Given the description of an element on the screen output the (x, y) to click on. 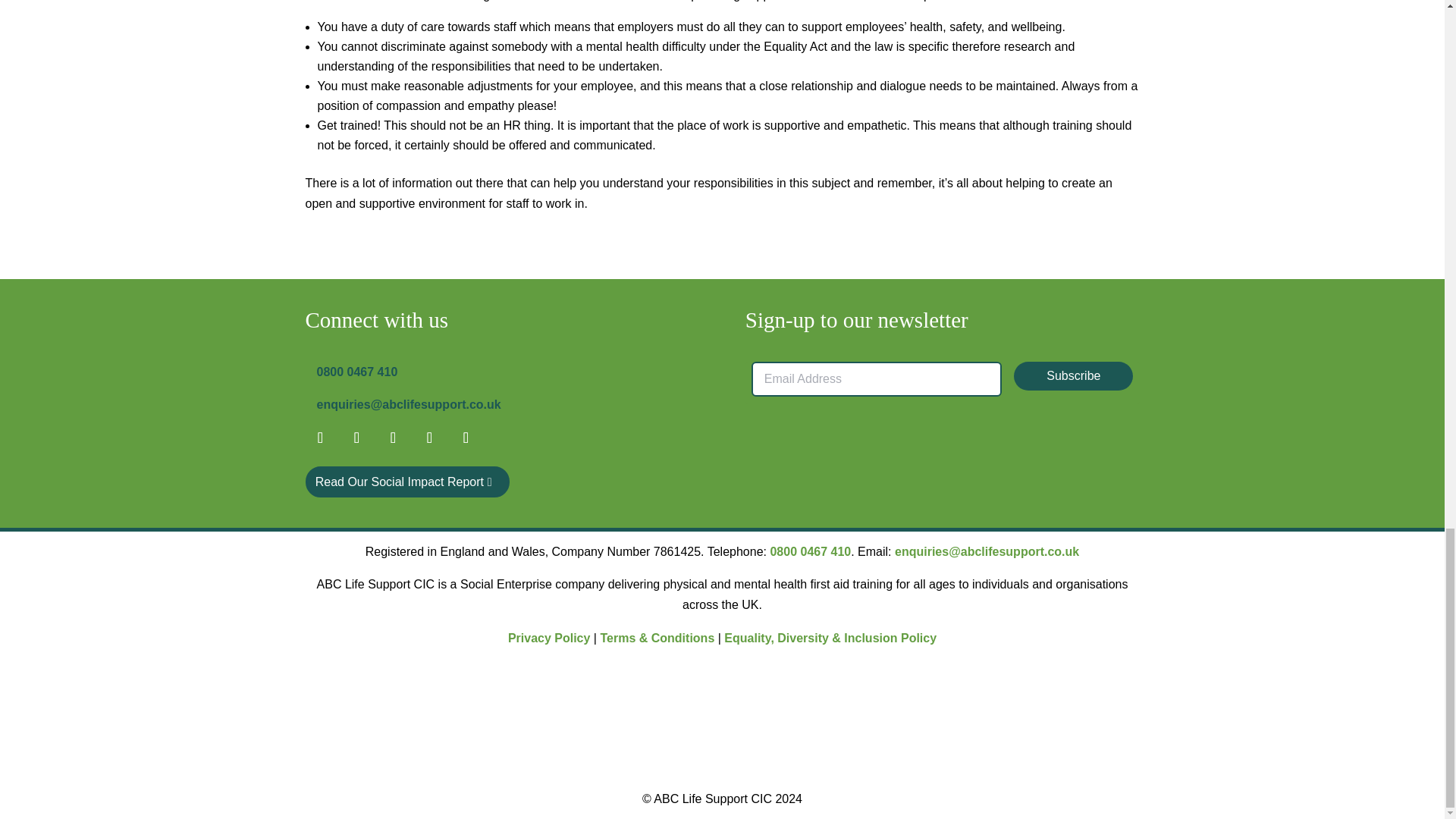
0800 0467 410 (357, 371)
Follow on Facebook (319, 437)
Follow on LinkedIn (392, 437)
Follow on Instagram (464, 437)
Follow on X (355, 437)
Follow on Youtube (428, 437)
